Given the description of an element on the screen output the (x, y) to click on. 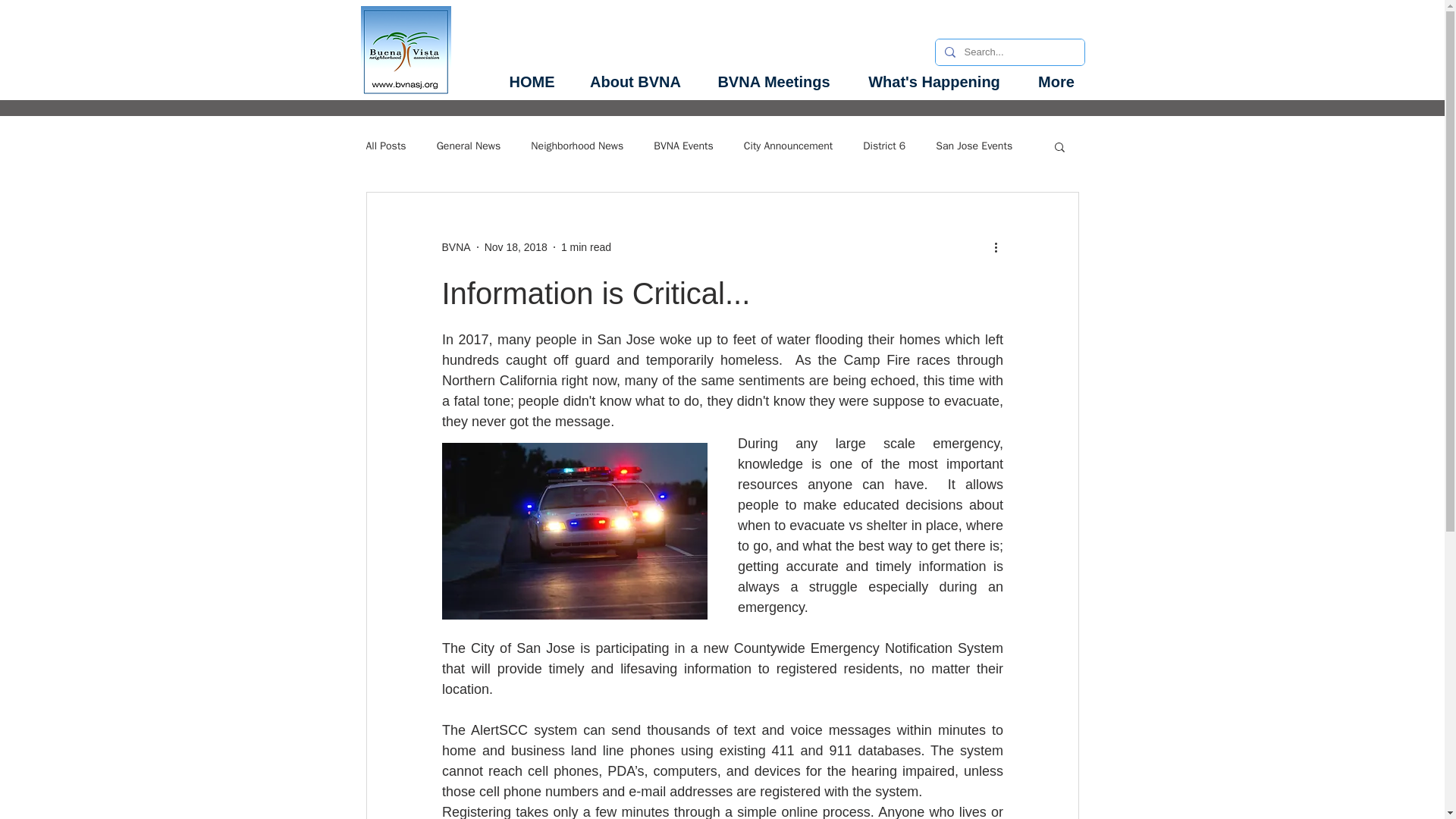
San Jose Events (973, 146)
Nov 18, 2018 (515, 246)
BVNA Meetings (773, 81)
1 min read (585, 246)
HOME (532, 81)
Neighborhood News (577, 146)
General News (468, 146)
City Announcement (788, 146)
All Posts (385, 146)
District 6 (884, 146)
BVNA (455, 247)
BVNA Events (683, 146)
